Given the description of an element on the screen output the (x, y) to click on. 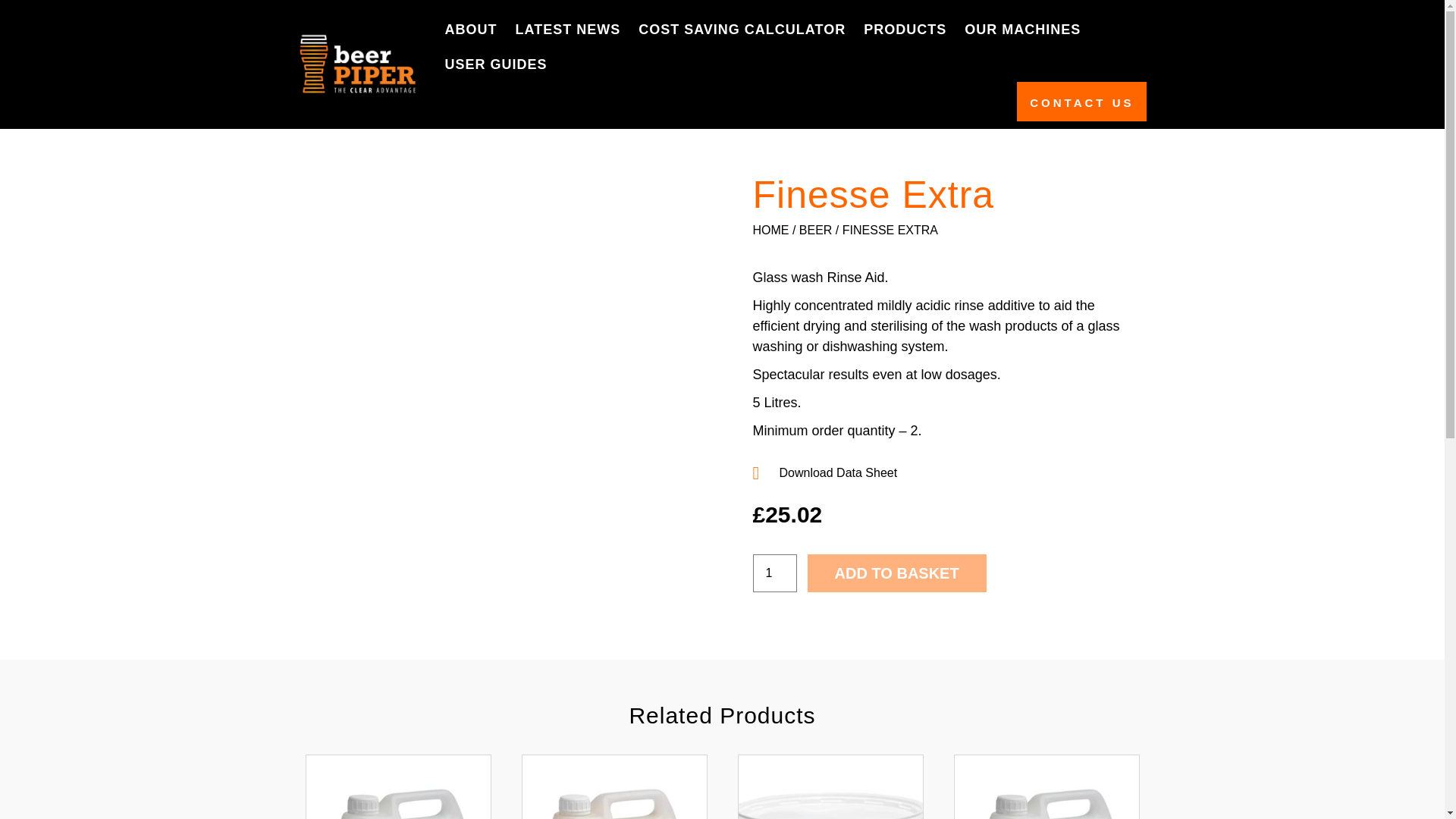
LATEST NEWS (566, 29)
PRODUCTS (904, 29)
USER GUIDES (495, 63)
1 (774, 573)
Download Data Sheet (945, 473)
COST SAVING CALCULATOR (741, 29)
CONTACT US (1081, 101)
HOME (770, 229)
OUR MACHINES (1022, 29)
ABOUT (470, 29)
ADD TO BASKET (897, 573)
BEER (815, 229)
